Given the description of an element on the screen output the (x, y) to click on. 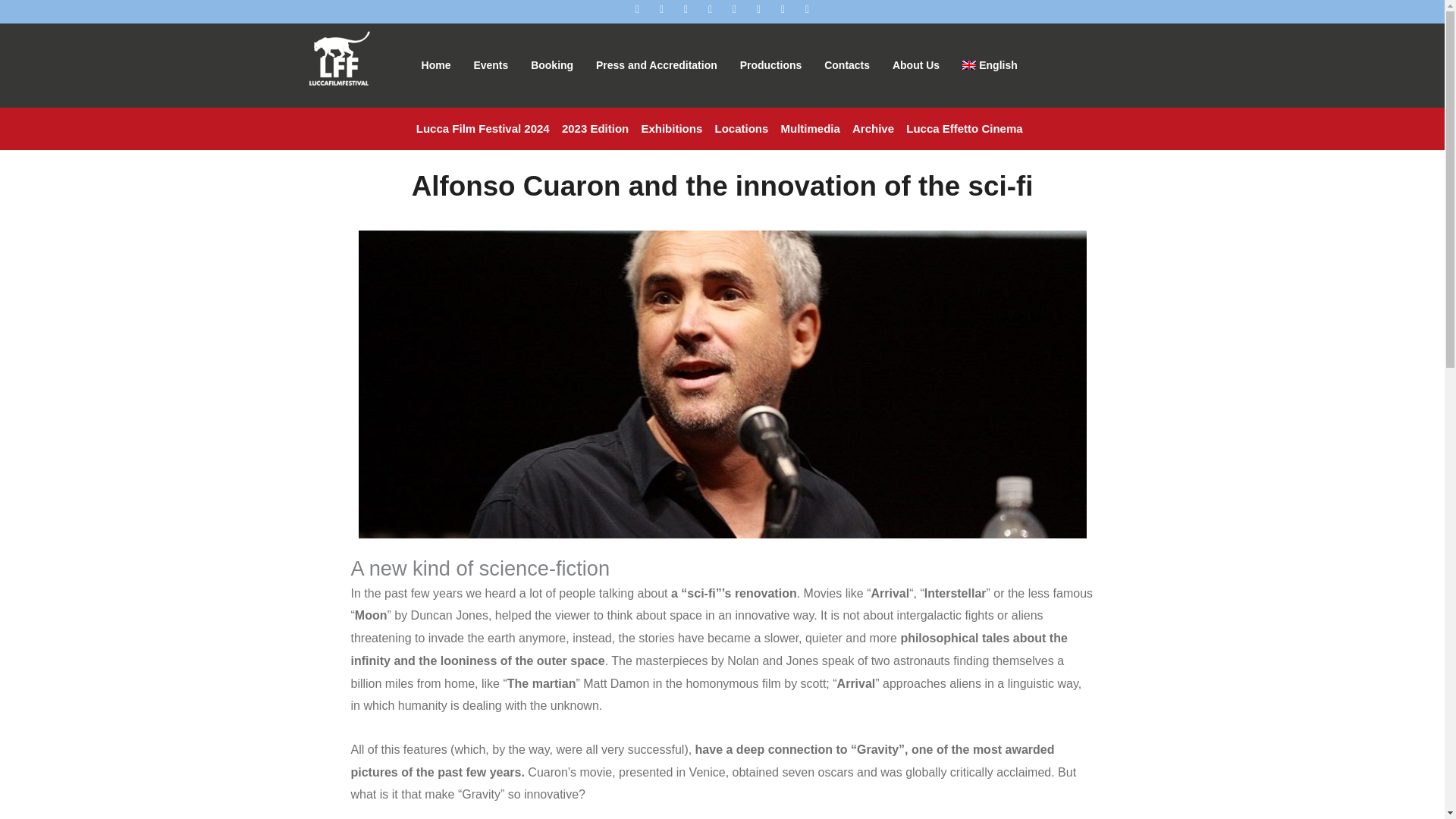
2023 Edition (595, 128)
Booking (552, 64)
Productions (771, 64)
English (989, 64)
Home (436, 64)
English (989, 64)
Events (490, 64)
Lucca Film Festival 2024 (483, 128)
About Us (915, 64)
Press and Accreditation (657, 64)
